Given the description of an element on the screen output the (x, y) to click on. 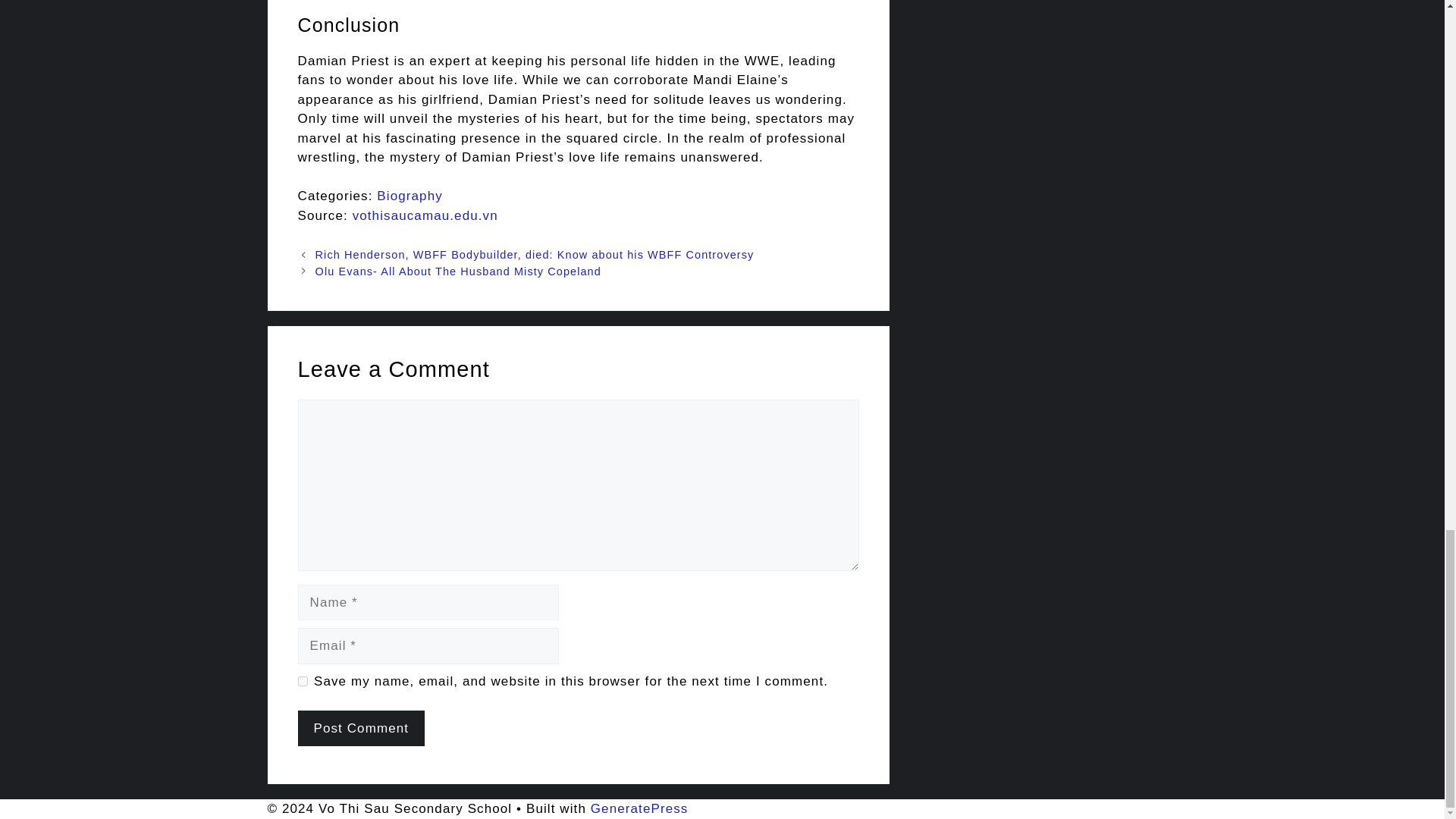
GeneratePress (639, 808)
Post Comment (361, 728)
Biography (409, 196)
vothisaucamau.edu.vn (424, 215)
Post Comment (361, 728)
Olu Evans- All About The Husband Misty Copeland (458, 271)
yes (302, 681)
